Given the description of an element on the screen output the (x, y) to click on. 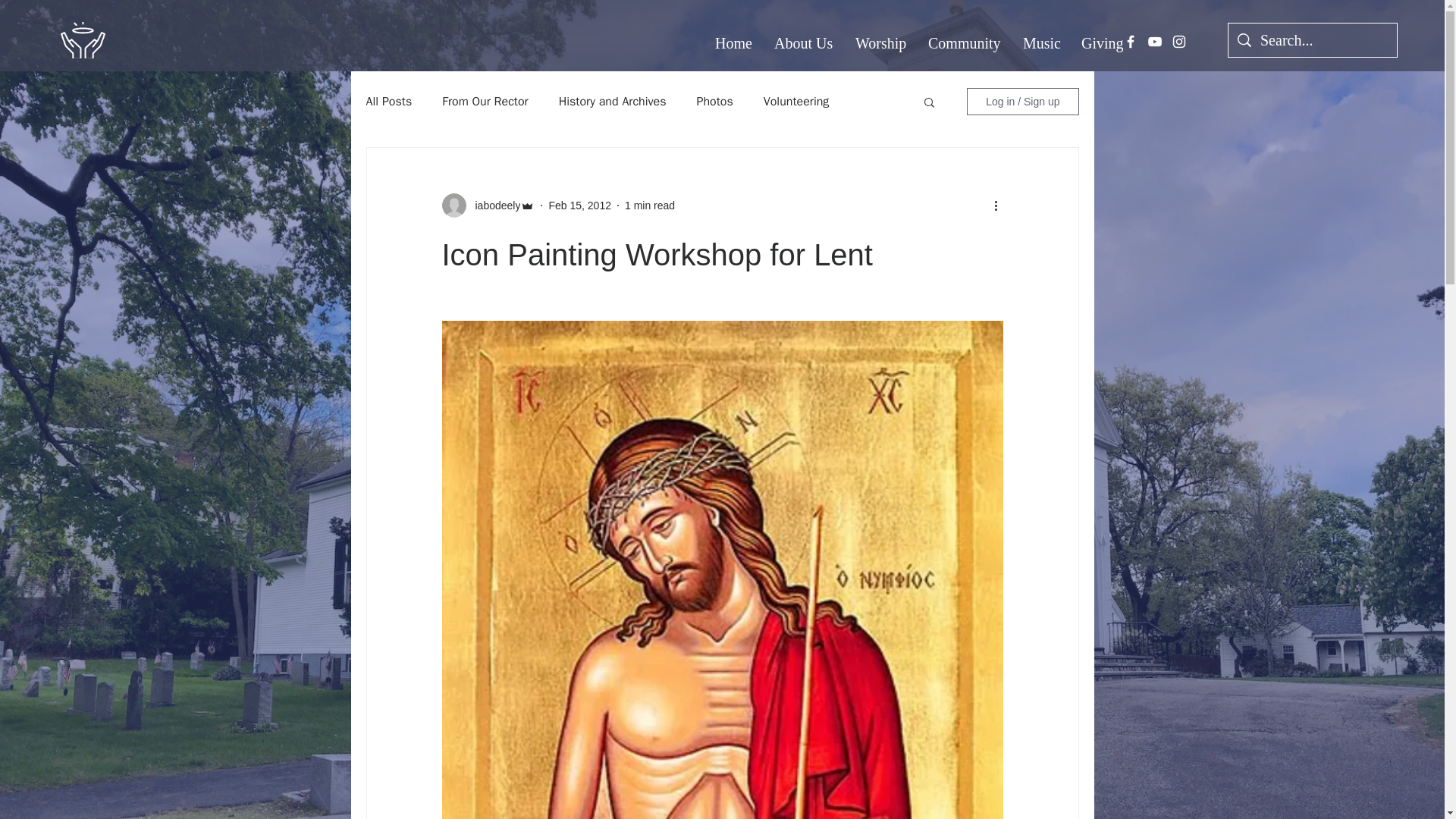
Feb 15, 2012 (579, 204)
Photos (715, 101)
iabodeely (492, 204)
Giving (1101, 43)
From Our Rector (484, 101)
Worship (880, 43)
Community (964, 43)
About Us (803, 43)
Home (732, 43)
All Posts (388, 101)
1 min read (649, 204)
History and Archives (612, 101)
Volunteering (795, 101)
Music (1040, 43)
